Given the description of an element on the screen output the (x, y) to click on. 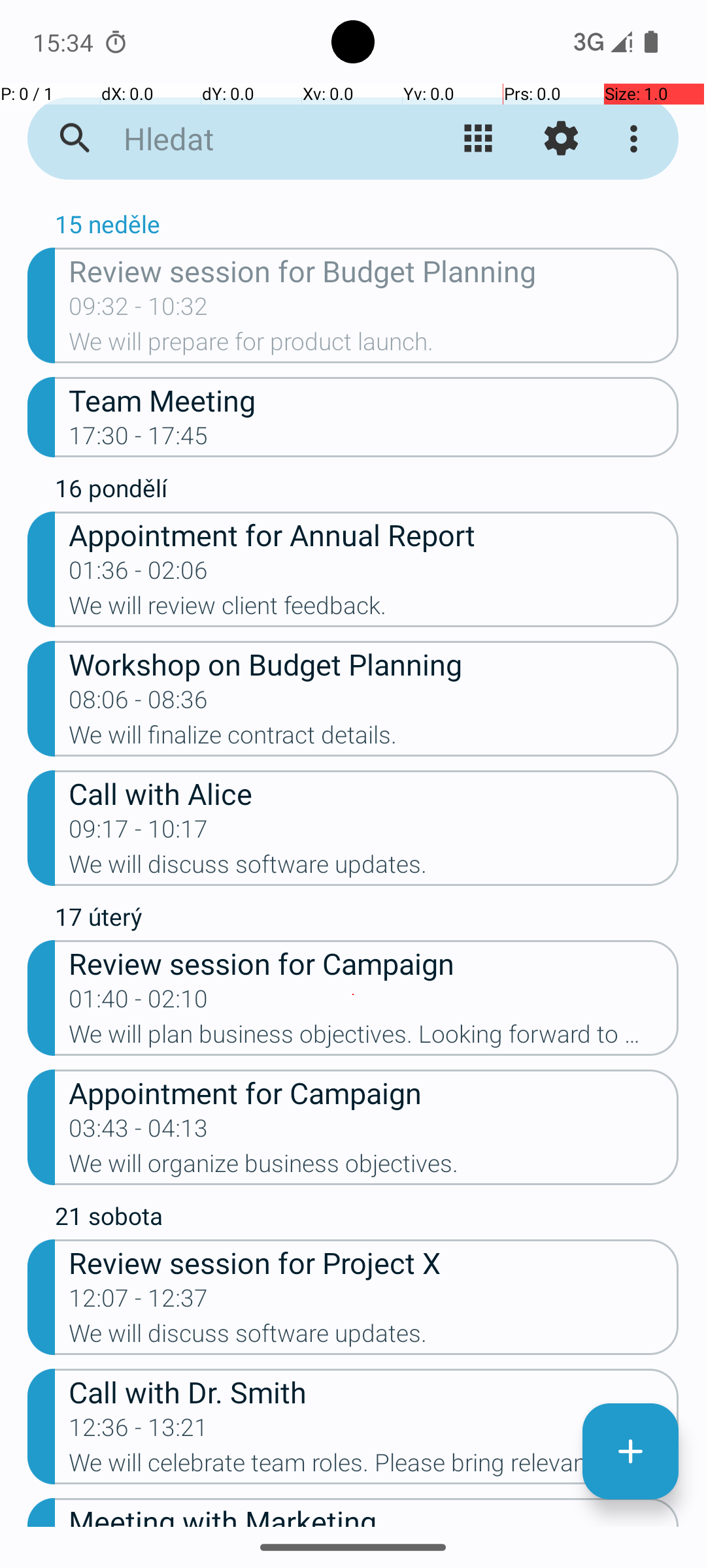
ŘÍJEN Element type: android.widget.TextView (353, 200)
15 neděle Element type: android.widget.TextView (366, 227)
16 pondělí Element type: android.widget.TextView (366, 491)
17 úterý Element type: android.widget.TextView (366, 919)
21 sobota Element type: android.widget.TextView (366, 1218)
09:32 - 10:32 Element type: android.widget.TextView (137, 309)
We will prepare for product launch. Element type: android.widget.TextView (373, 345)
Team Meeting Element type: android.widget.TextView (373, 399)
17:30 - 17:45 Element type: android.widget.TextView (137, 439)
01:36 - 02:06 Element type: android.widget.TextView (137, 573)
We will review client feedback. Element type: android.widget.TextView (373, 609)
08:06 - 08:36 Element type: android.widget.TextView (137, 703)
We will finalize contract details. Element type: android.widget.TextView (373, 738)
09:17 - 10:17 Element type: android.widget.TextView (137, 832)
We will discuss software updates. Element type: android.widget.TextView (373, 867)
01:40 - 02:10 Element type: android.widget.TextView (137, 1002)
We will plan business objectives. Looking forward to productive discussions. Element type: android.widget.TextView (373, 1037)
03:43 - 04:13 Element type: android.widget.TextView (137, 1131)
We will organize business objectives. Element type: android.widget.TextView (373, 1167)
12:07 - 12:37 Element type: android.widget.TextView (137, 1301)
12:36 - 13:21 Element type: android.widget.TextView (137, 1431)
We will celebrate team roles. Please bring relevant documents. Element type: android.widget.TextView (373, 1466)
